Given the description of an element on the screen output the (x, y) to click on. 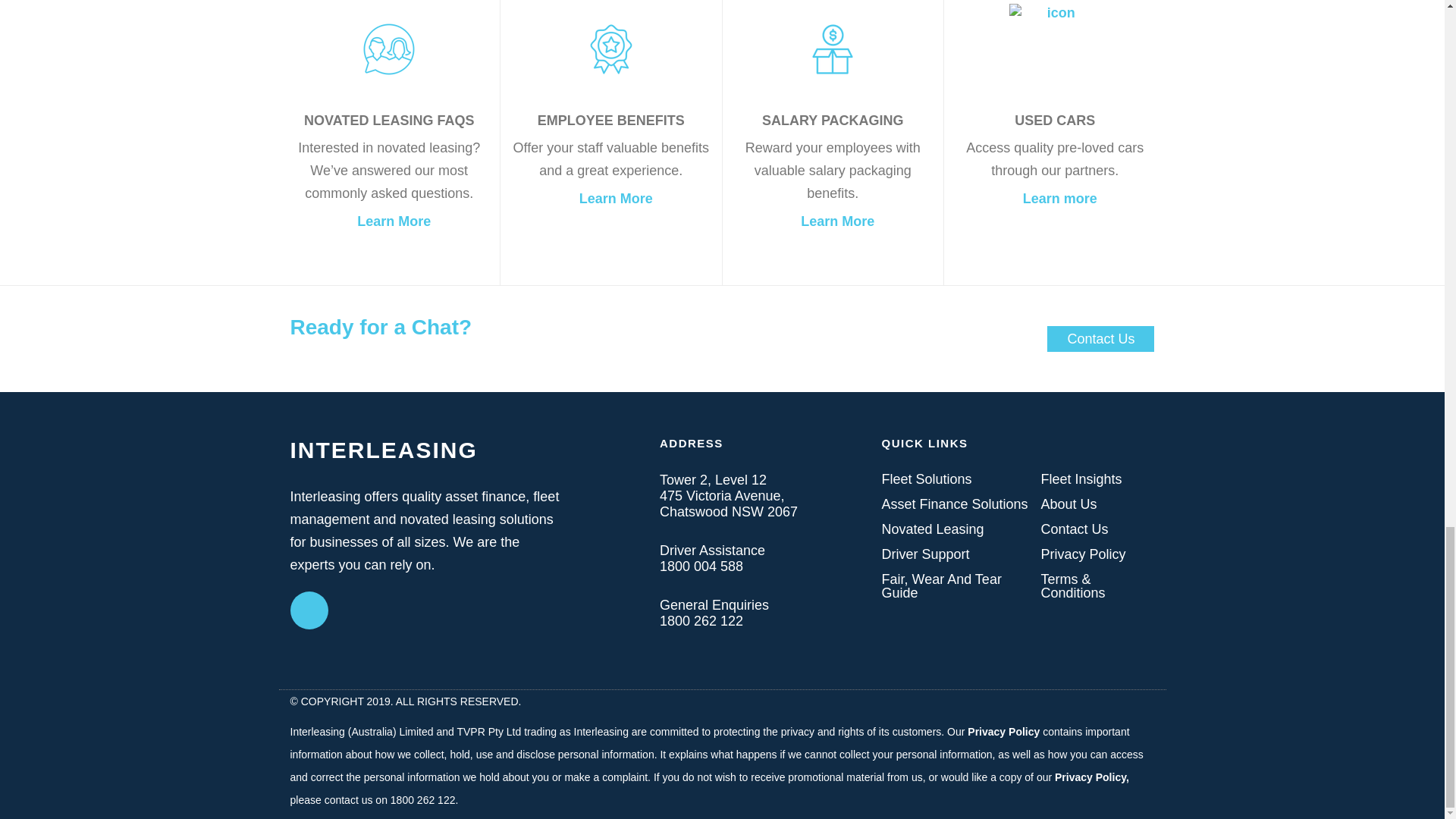
fleet-insights (1081, 479)
Terms and Conditions (1097, 585)
Privacy Policy (1083, 554)
